Given the description of an element on the screen output the (x, y) to click on. 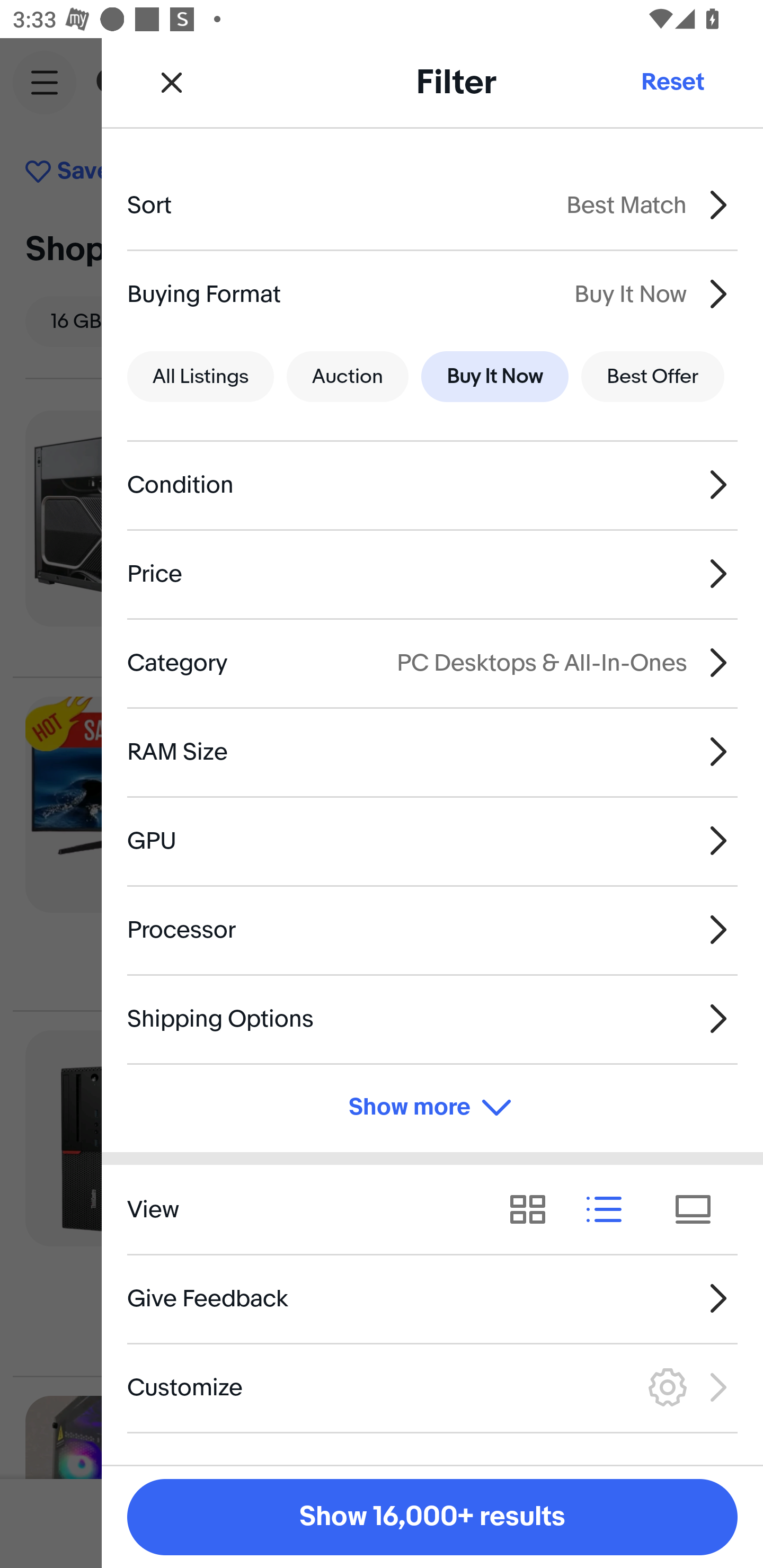
Close Filter (171, 81)
Reset (672, 81)
Buying Format Buy It Now (432, 293)
All Listings (200, 376)
Auction (347, 376)
Buy It Now (494, 376)
Best Offer (652, 376)
Condition (432, 484)
Price (432, 573)
Category PC Desktops & All-In-Ones (432, 662)
RAM Size (432, 751)
GPU (432, 840)
Processor (432, 929)
Shipping Options (432, 1018)
Show more (432, 1107)
View results as grid (533, 1209)
View results as list (610, 1209)
View results as tiles (699, 1209)
Customize (432, 1386)
Show 16,000+ results (432, 1516)
